Given the description of an element on the screen output the (x, y) to click on. 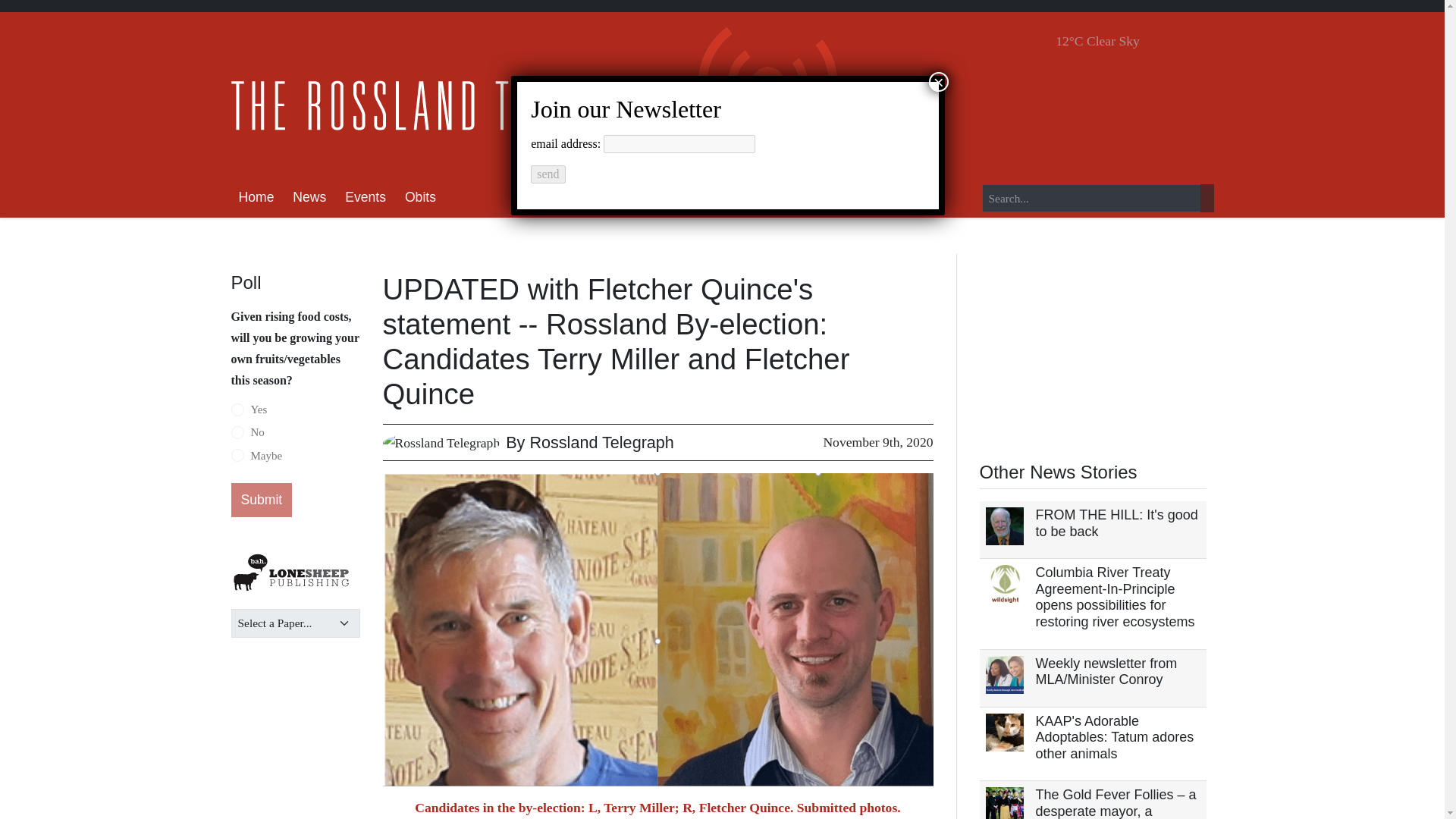
send (547, 174)
Submit (261, 500)
Submit (261, 500)
gpoll1892df81e (237, 409)
gpoll135bfdf59 (237, 432)
3rd party ad content (1093, 348)
Events (365, 198)
FROM THE HILL: It's good to be back (1116, 522)
Obits (420, 198)
News (309, 198)
KAAP's Adorable Adoptables: Tatum adores other animals (1114, 737)
Home (255, 198)
gpoll13b628ecd (237, 455)
